Given the description of an element on the screen output the (x, y) to click on. 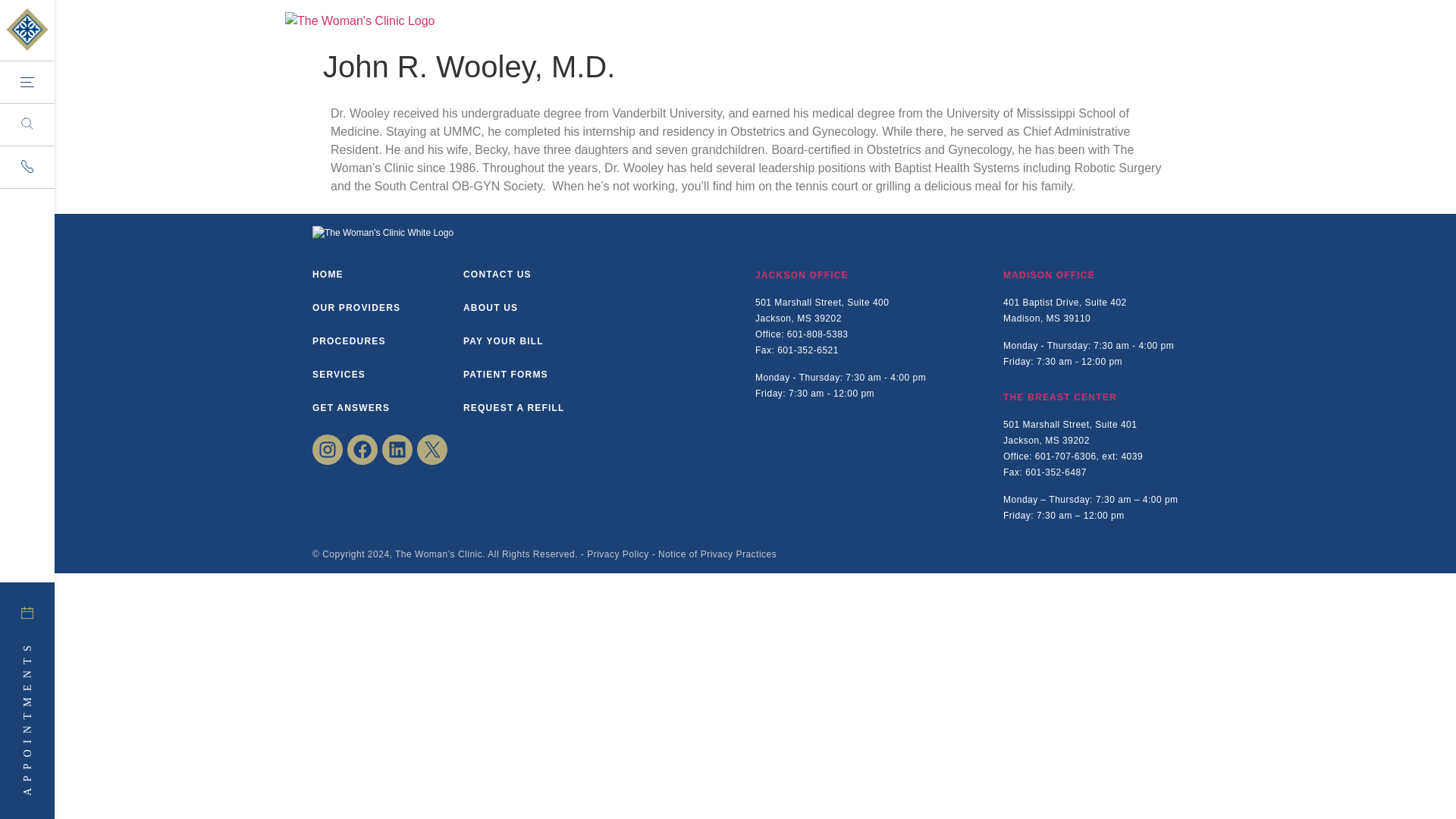
ABOUT US (490, 307)
SERVICES (339, 374)
PATIENT FORMS (505, 374)
PROCEDURES (349, 340)
OUR PROVIDERS (356, 307)
GET ANSWERS (351, 407)
HOME (328, 274)
PAY YOUR BILL (503, 340)
CONTACT US (497, 274)
REQUEST A REFILL (513, 407)
